Given the description of an element on the screen output the (x, y) to click on. 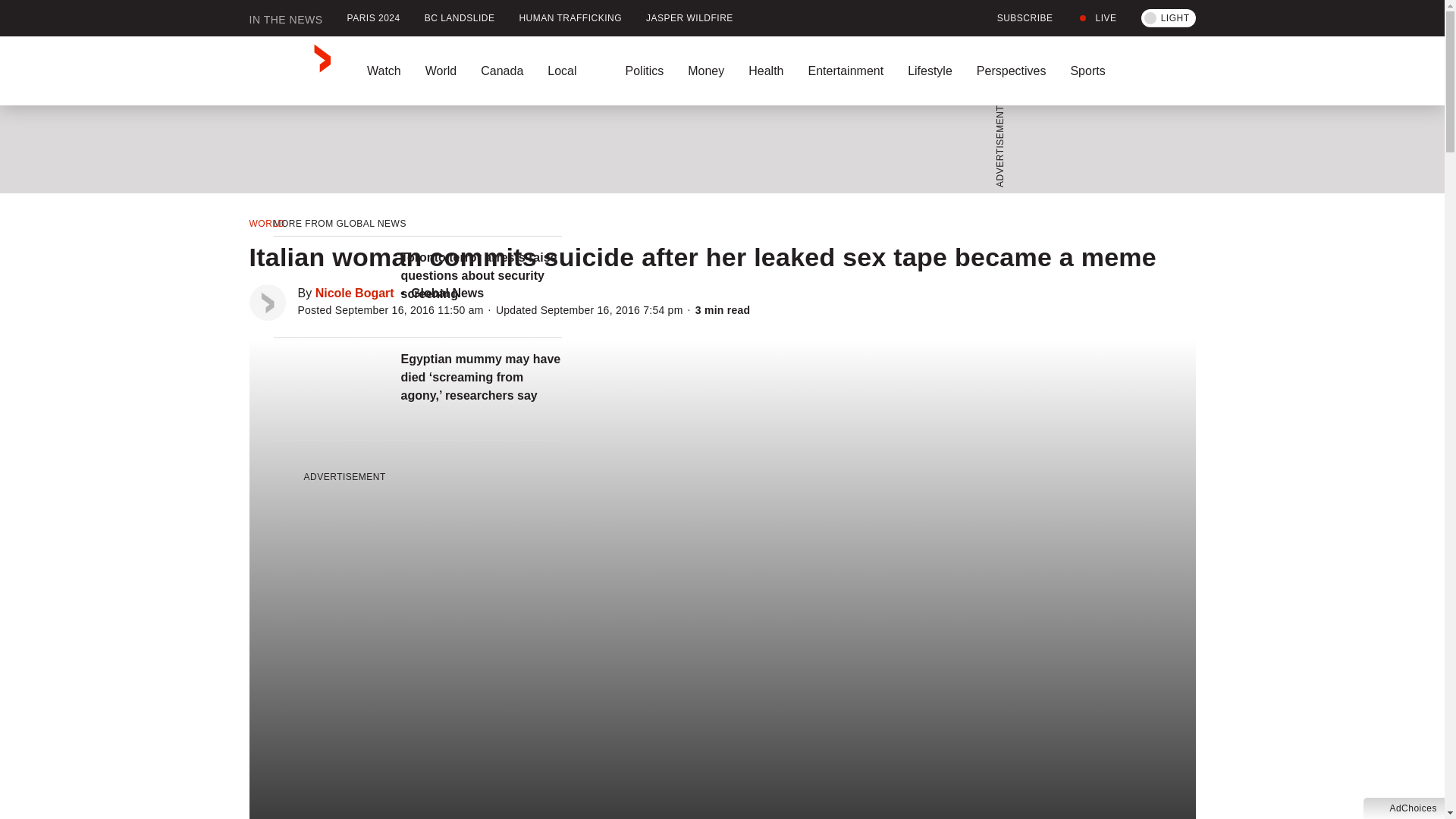
PARIS 2024 (373, 18)
Lifestyle (929, 70)
Local (573, 70)
SUBSCRIBE (1015, 18)
Perspectives (1010, 70)
Posts by Nicole Bogart (354, 293)
Canada (501, 70)
Politics (643, 70)
HUMAN TRAFFICKING (569, 18)
GlobalNews home (289, 70)
BC LANDSLIDE (459, 18)
Entertainment (844, 70)
JASPER WILDFIRE (689, 18)
LIVE (1096, 18)
